Given the description of an element on the screen output the (x, y) to click on. 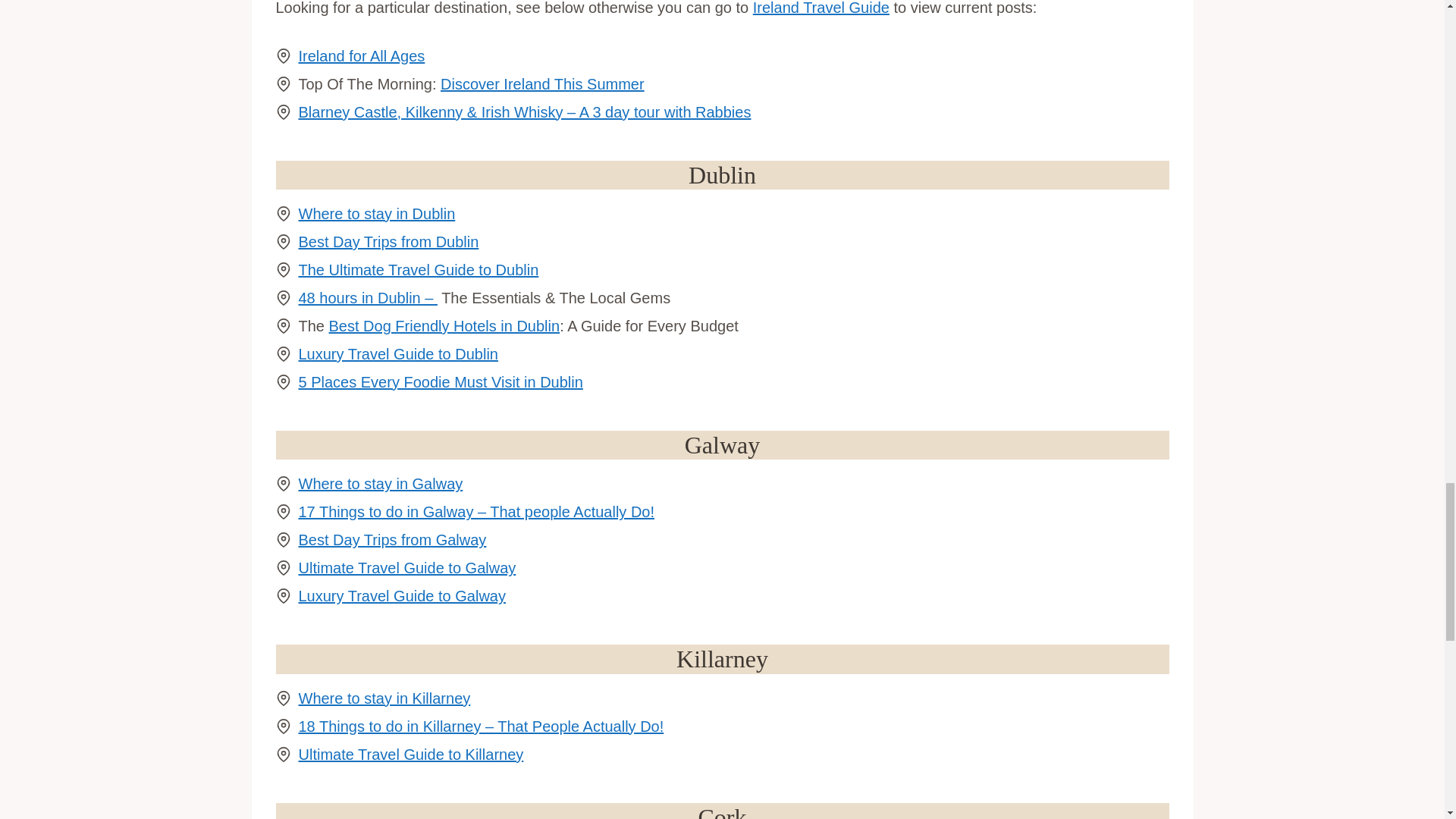
Luxury Travel Guide to Dublin (397, 353)
Where to stay in Killarney (384, 698)
Ultimate Travel Guide to Killarney (411, 754)
Ireland Travel Guide (820, 7)
Where to stay in Dublin (376, 213)
Discover Ireland This Summer (543, 84)
Where to stay in Galway (380, 483)
Ultimate Travel Guide to Galway (407, 567)
The Ultimate Travel Guide to Dublin (418, 269)
Luxury Travel Guide to Galway (401, 596)
